Given the description of an element on the screen output the (x, y) to click on. 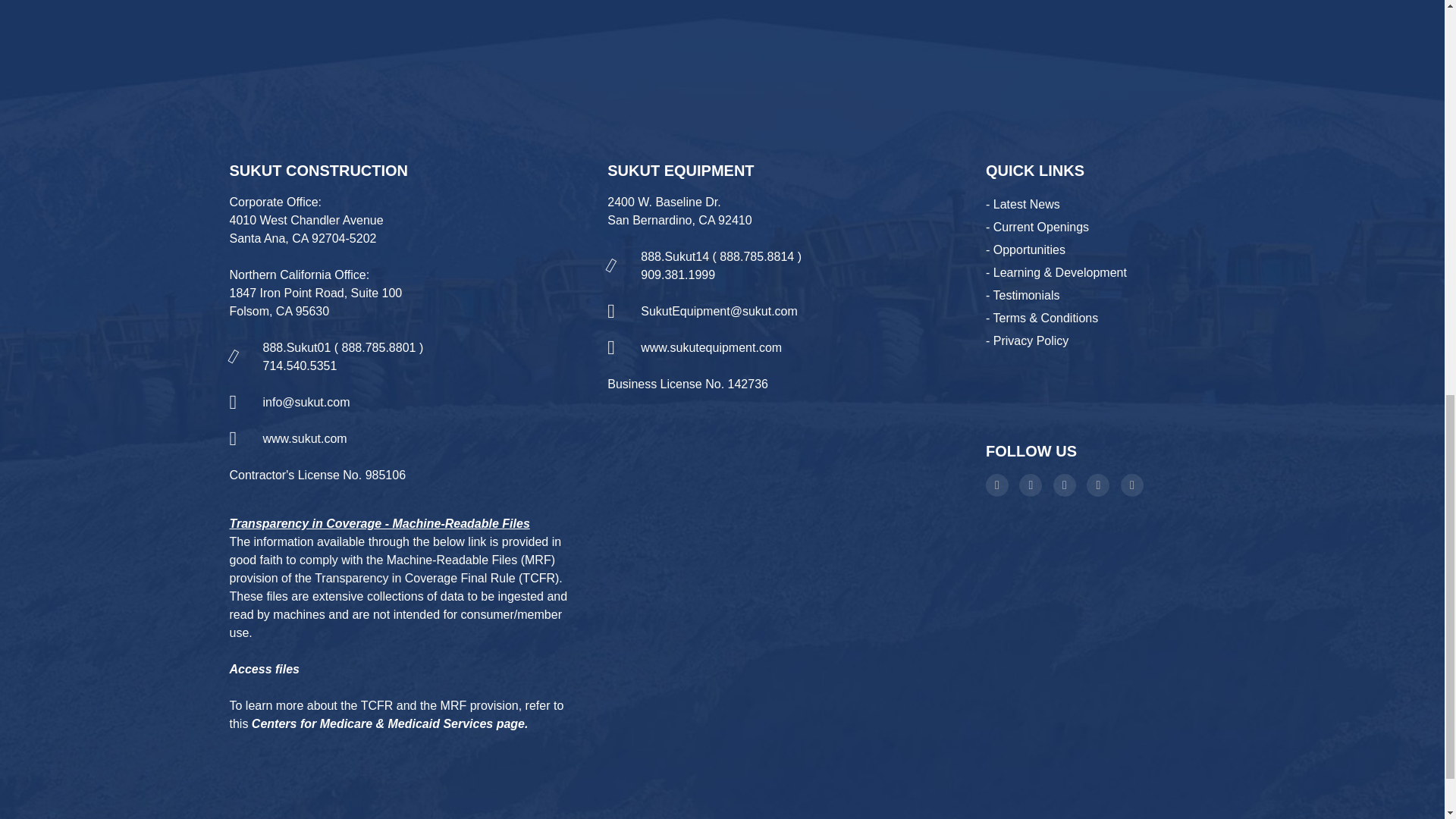
- Privacy Policy (1026, 340)
www.sukut.com (304, 438)
- Latest News (1022, 204)
- Testimonials (1022, 295)
www.sukutequipment.com (710, 347)
Access files (263, 668)
- Current Openings (1037, 226)
- Opportunities (1025, 249)
